Given the description of an element on the screen output the (x, y) to click on. 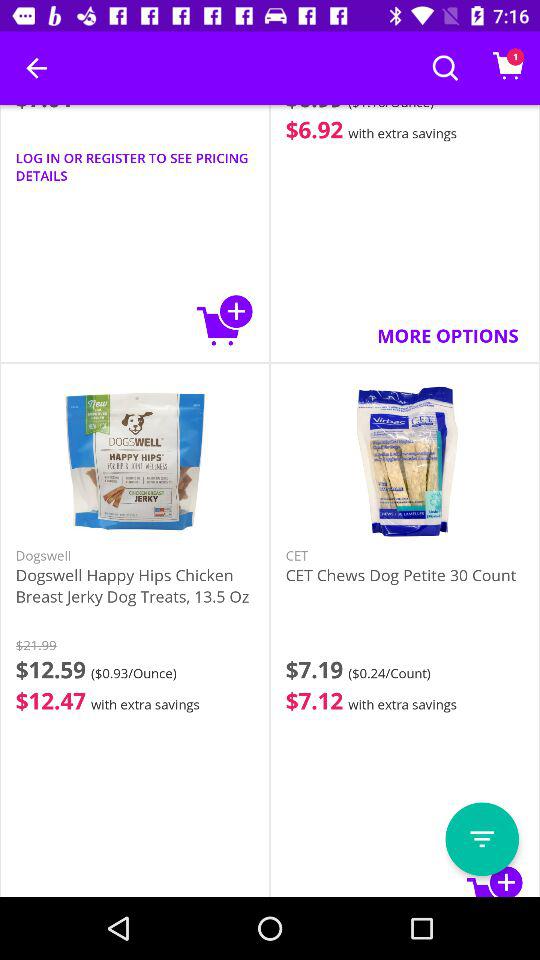
more options (482, 839)
